Given the description of an element on the screen output the (x, y) to click on. 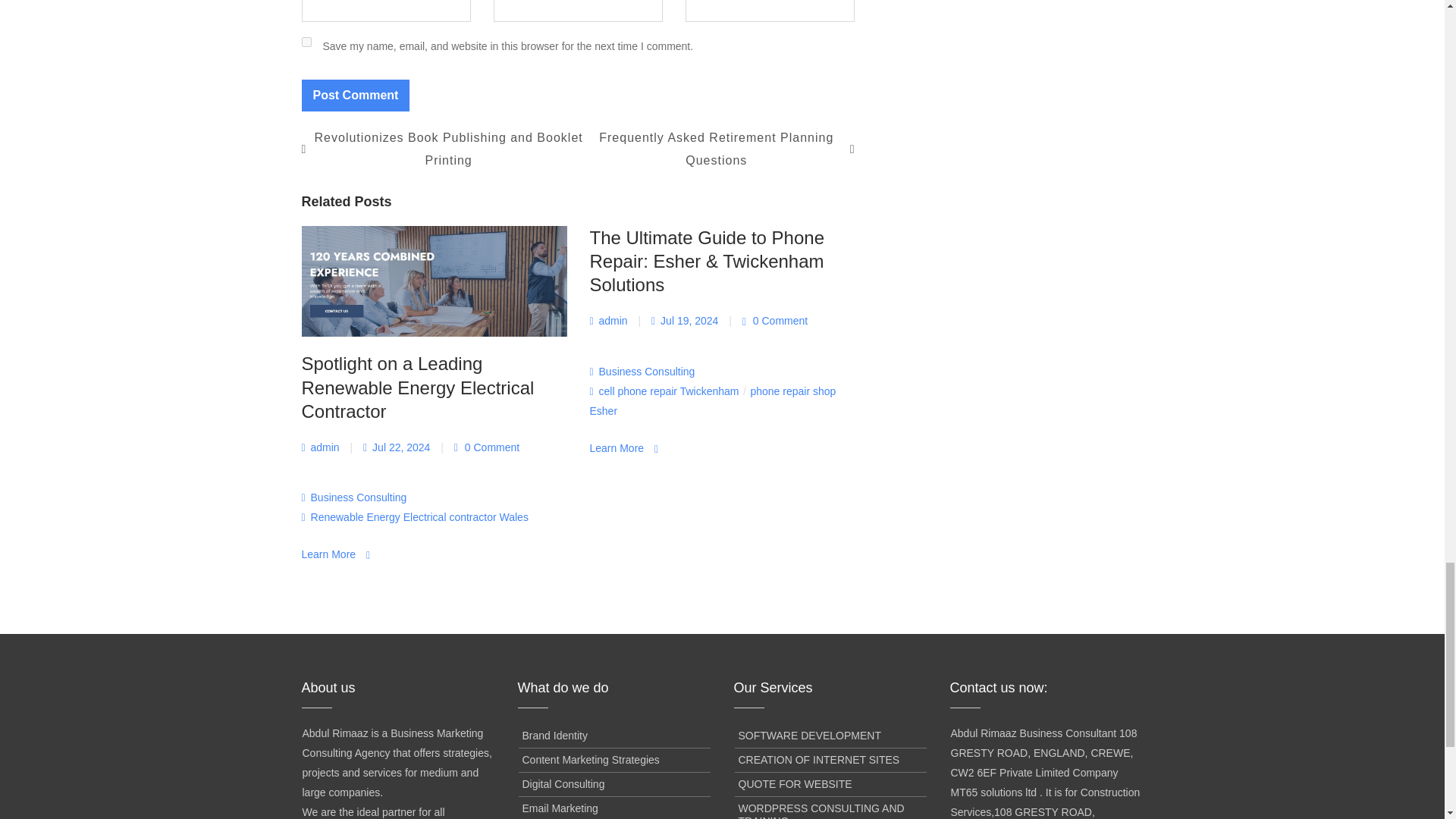
Post Comment (355, 95)
yes (306, 41)
